Given the description of an element on the screen output the (x, y) to click on. 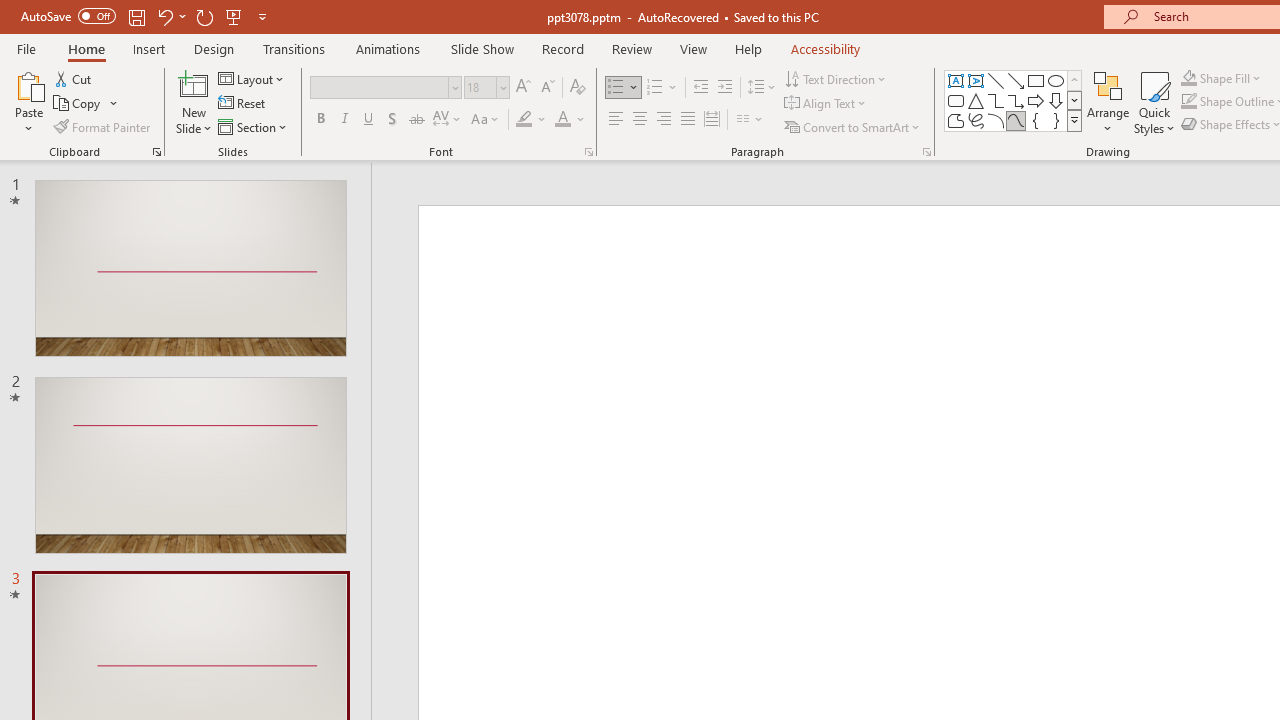
AutoSave (68, 16)
Text Highlight Color (531, 119)
Customize Quick Access Toolbar (262, 15)
More Options (1232, 78)
Quick Access Toolbar (145, 16)
Row up (1074, 79)
Left Brace (1035, 120)
File Tab (26, 48)
Shapes (1074, 120)
View (693, 48)
Line Arrow (1016, 80)
Align Text (826, 103)
Convert to SmartArt (853, 126)
New Slide (193, 102)
Text Direction (836, 78)
